Given the description of an element on the screen output the (x, y) to click on. 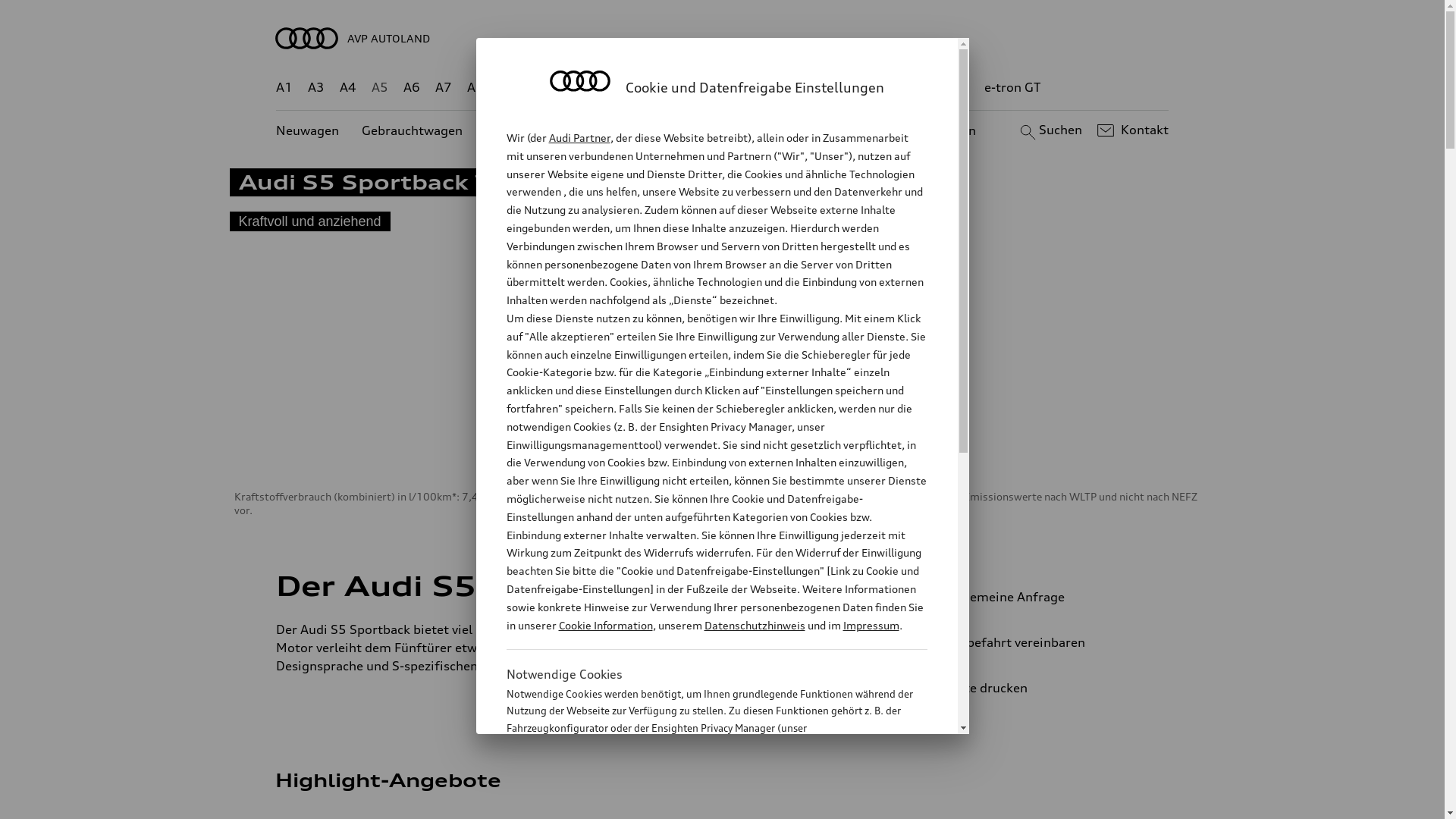
Cookie Information Element type: text (700, 802)
Seite drucken Element type: text (1044, 687)
Datenschutzhinweis Element type: text (753, 624)
Probefahrt vereinbaren Element type: text (1038, 642)
TT Element type: text (814, 87)
A5 Element type: text (379, 87)
A3 Element type: text (315, 87)
Cookie Information Element type: text (605, 624)
AVP AUTOLAND Element type: text (722, 38)
Gebrauchtwagen Element type: text (411, 130)
Q8 e-tron Element type: text (763, 87)
Kontakt Element type: text (1130, 130)
Q8 Element type: text (710, 87)
A7 Element type: text (443, 87)
A6 Element type: text (411, 87)
Q2 Element type: text (507, 87)
Q4 e-tron Element type: text (592, 87)
Audi Partner Element type: text (579, 137)
Impressum Element type: text (871, 624)
Q3 Element type: text (540, 87)
g-tron Element type: text (950, 87)
A4 Element type: text (347, 87)
Q5 Element type: text (645, 87)
Q7 Element type: text (678, 87)
Angebote Element type: text (636, 130)
Kundenservice Element type: text (730, 130)
A1 Element type: text (284, 87)
Suchen Element type: text (1049, 130)
Neuwagen Element type: text (307, 130)
RS Element type: text (908, 87)
e-tron GT Element type: text (1012, 87)
R8 Element type: text (861, 87)
A8 Element type: text (475, 87)
Allgemeine Anfrage Element type: text (1038, 596)
